Given the description of an element on the screen output the (x, y) to click on. 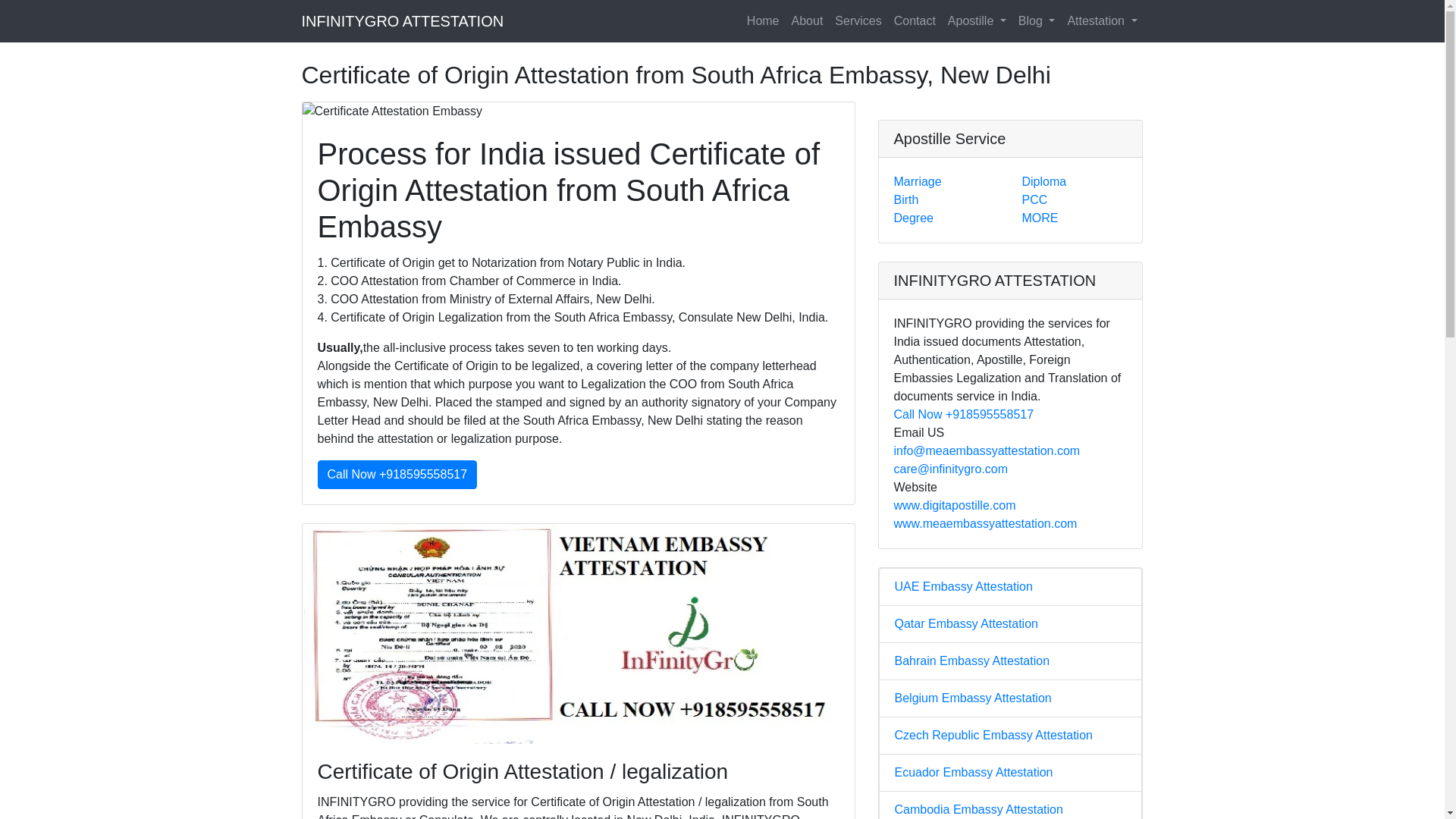
Apostille (976, 20)
Blog (1036, 20)
INFINITYGRO ATTESTATION (402, 20)
Contact (915, 20)
Diploma (1043, 181)
Attestation (1101, 20)
Home (763, 20)
MORE (1040, 217)
Degree (913, 217)
Email" (950, 468)
